Given the description of an element on the screen output the (x, y) to click on. 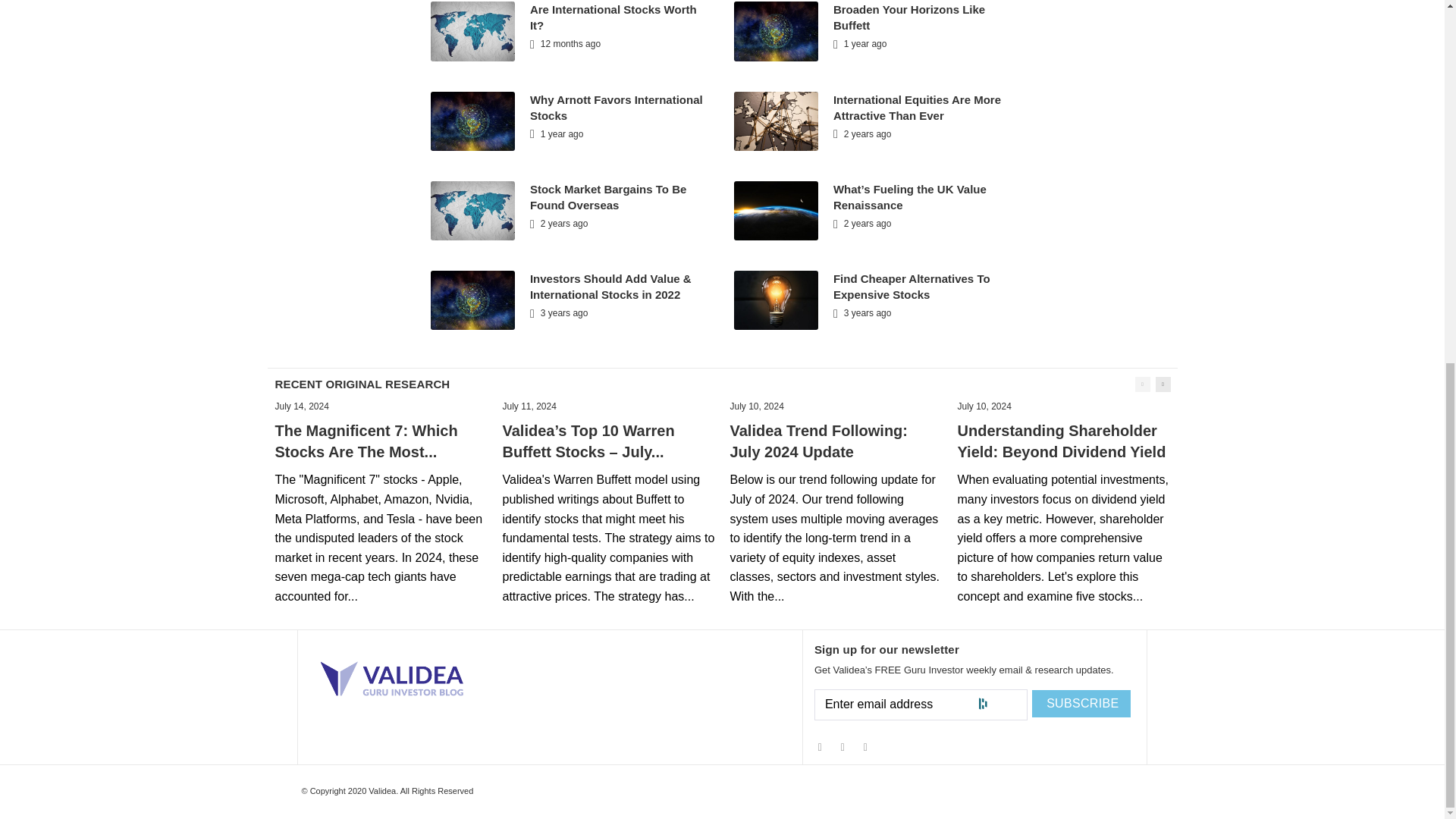
Are International Stocks Worth It? (613, 17)
Stock Market Bargains To Be Found Overseas (607, 196)
2024-07-14T18:24:16-04:00 (302, 406)
2 years ago (861, 133)
Why Arnott Favors International Stocks (616, 107)
2024-07-10T09:19:35-04:00 (756, 406)
2 years ago (558, 223)
12 months ago (564, 43)
2024-07-10T09:04:47-04:00 (983, 406)
1 year ago (859, 43)
Broaden Your Horizons Like Buffett (908, 17)
Are International Stocks Worth It? (613, 17)
International Equities Are More Attractive Than Ever (916, 107)
Find Cheaper Alternatives To Expensive Stocks (911, 286)
2024-07-11T09:09:15-04:00 (529, 406)
